Given the description of an element on the screen output the (x, y) to click on. 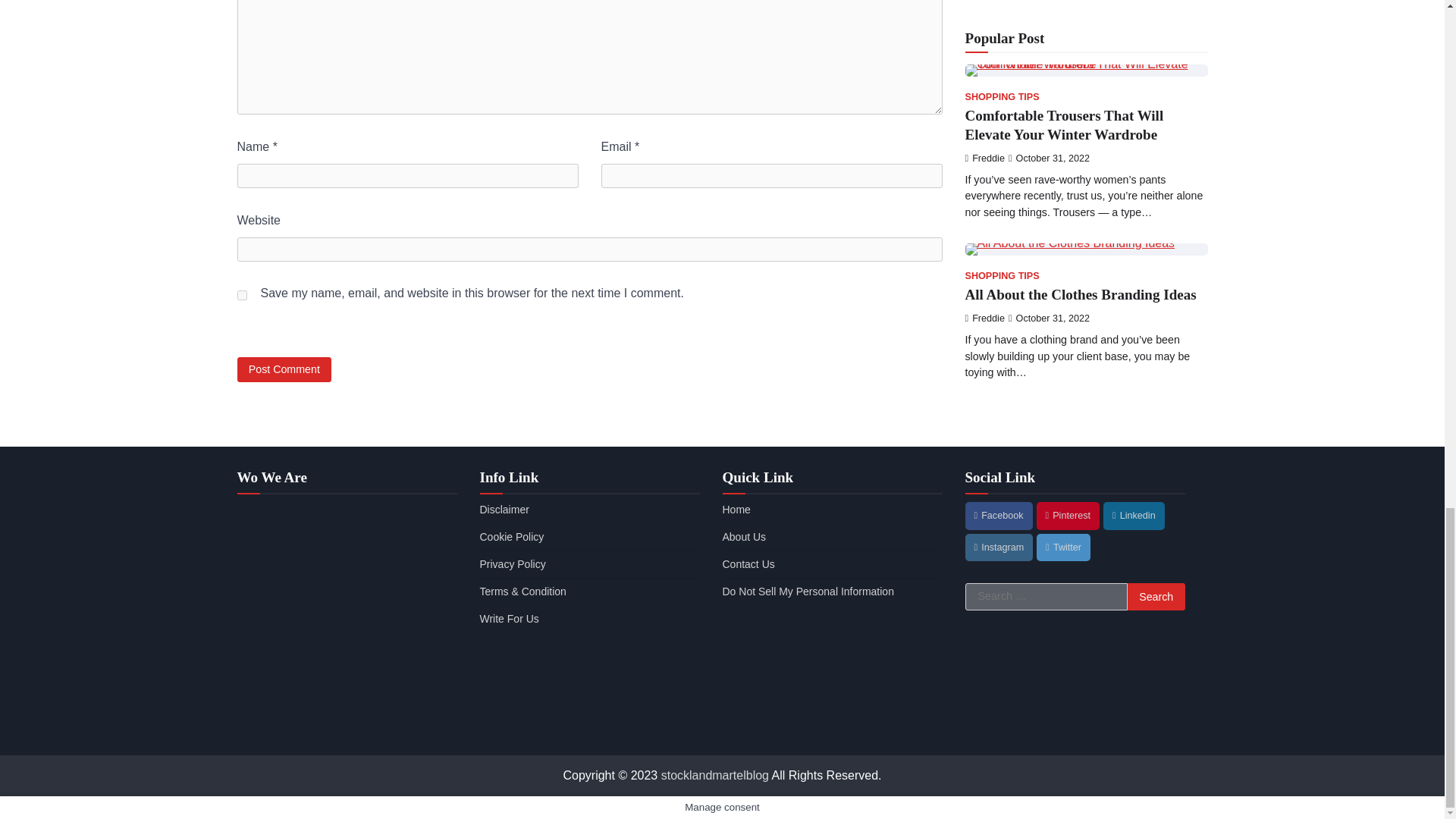
yes (240, 295)
Post Comment (283, 369)
Search (1155, 596)
Search (1155, 596)
Post Comment (283, 369)
DMCA.com Protection Status (832, 727)
